Given the description of an element on the screen output the (x, y) to click on. 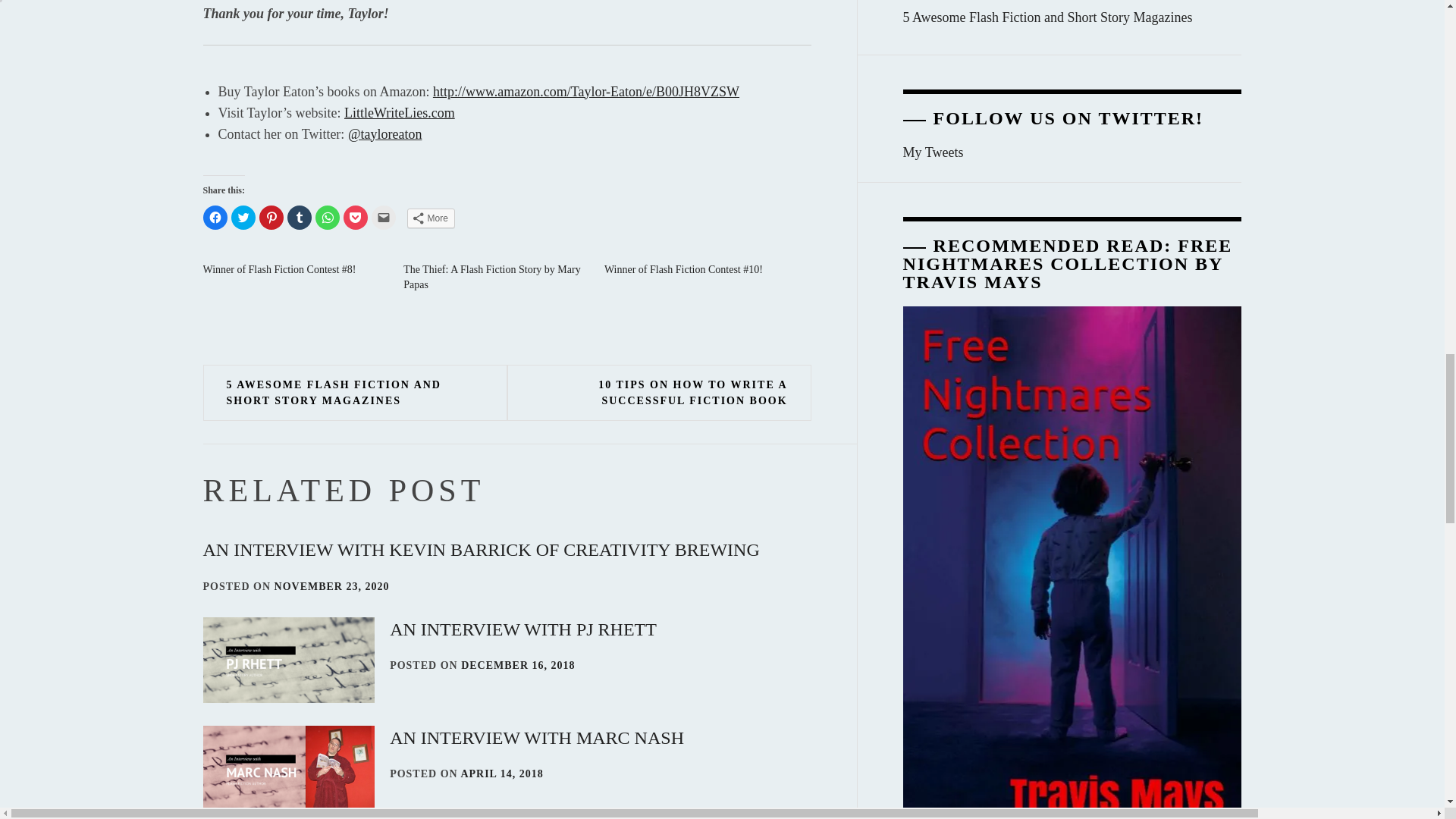
Click to email this to a friend (383, 217)
Click to share on WhatsApp (327, 217)
Click to share on Facebook (215, 217)
Click to share on Pocket (354, 217)
LittleWriteLies.com (398, 112)
Click to share on Twitter (242, 217)
The Thief: A Flash Fiction Story by Mary Papas (491, 276)
Click to share on Tumblr (298, 217)
Click to share on Pinterest (271, 217)
